Given the description of an element on the screen output the (x, y) to click on. 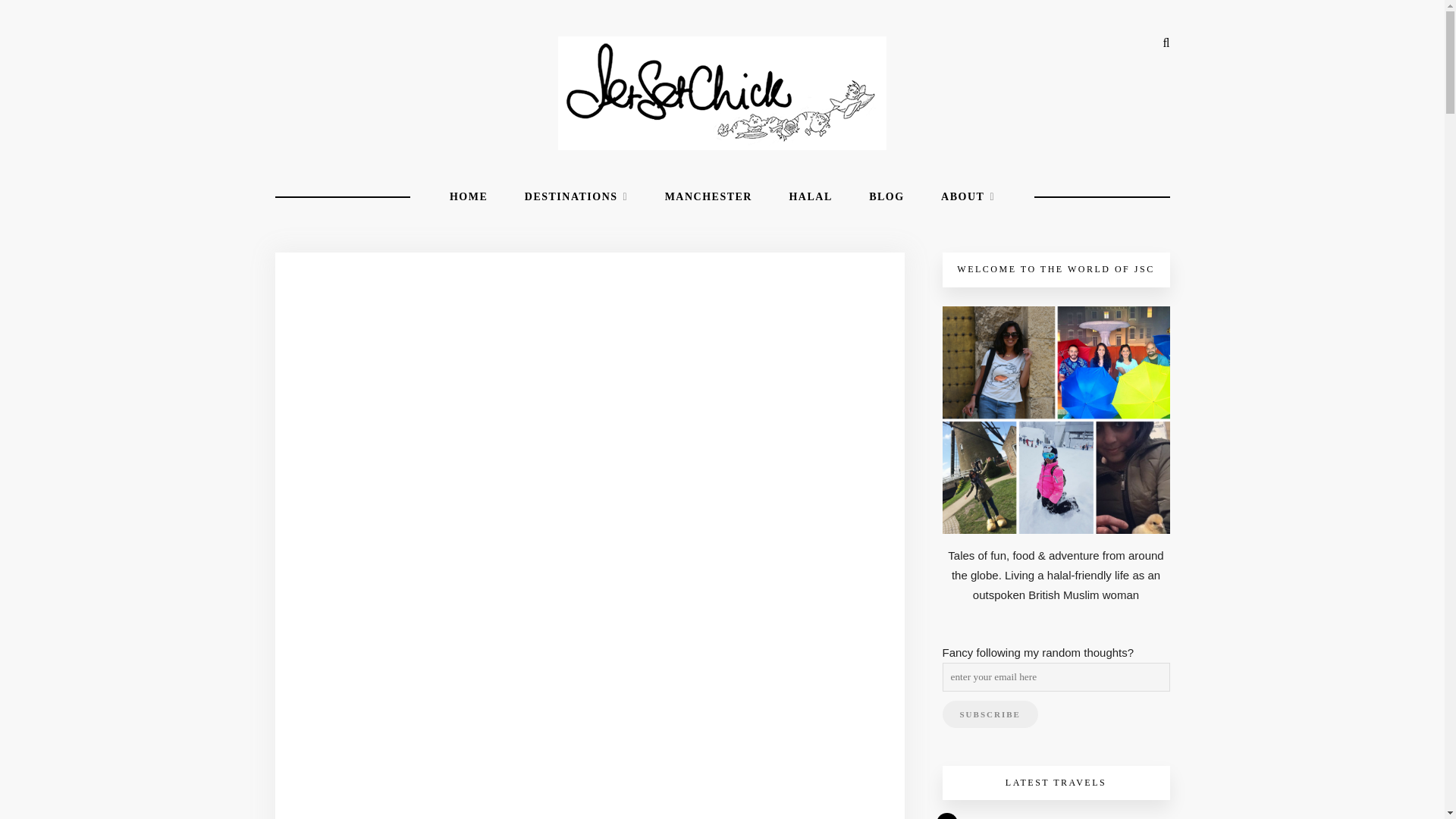
HOME (468, 196)
MANCHESTER (708, 196)
Subscribe (989, 714)
DESTINATIONS (575, 196)
HALAL (810, 196)
ABOUT (967, 196)
